Given the description of an element on the screen output the (x, y) to click on. 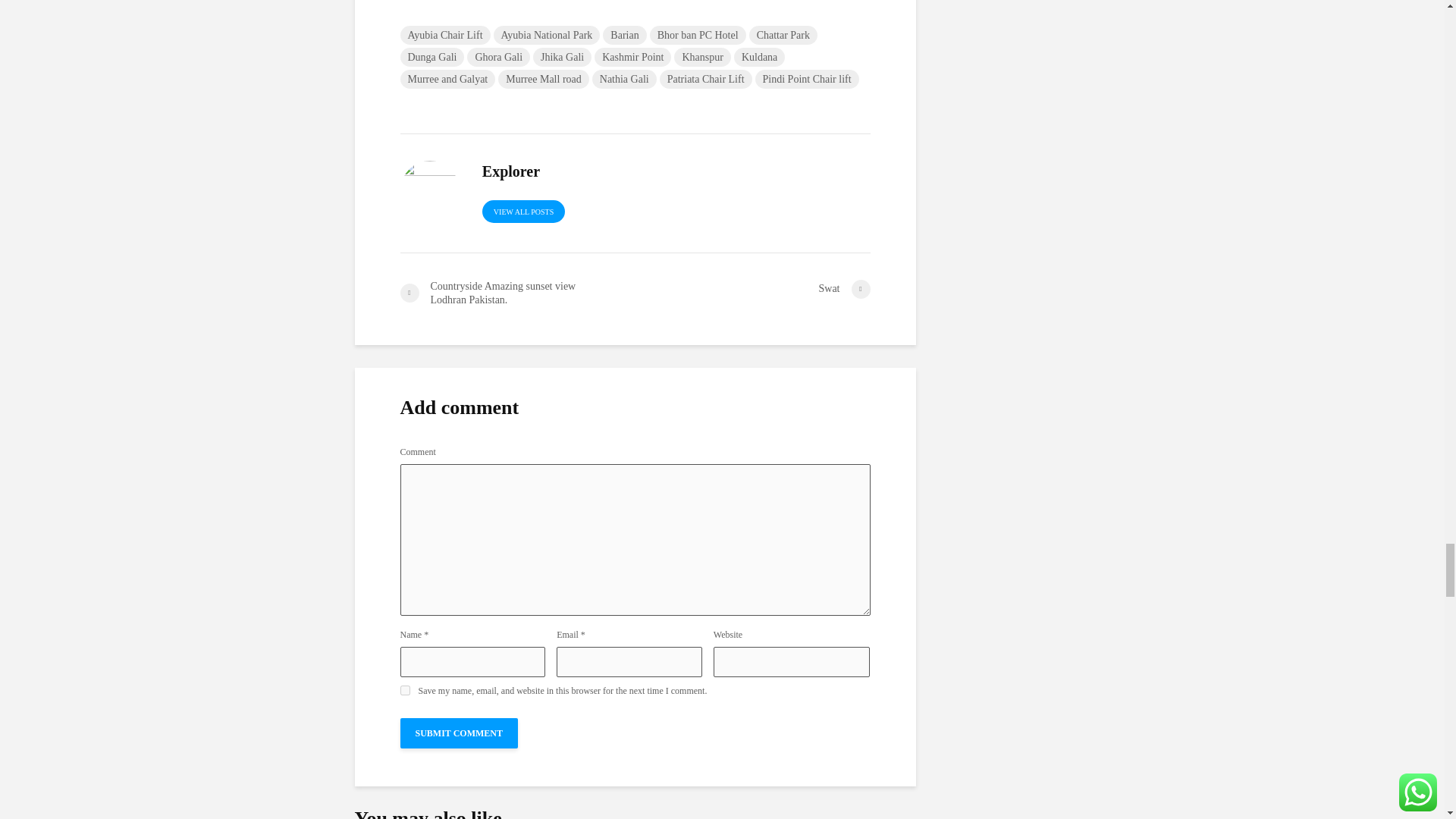
Submit Comment (459, 733)
yes (405, 690)
